Given the description of an element on the screen output the (x, y) to click on. 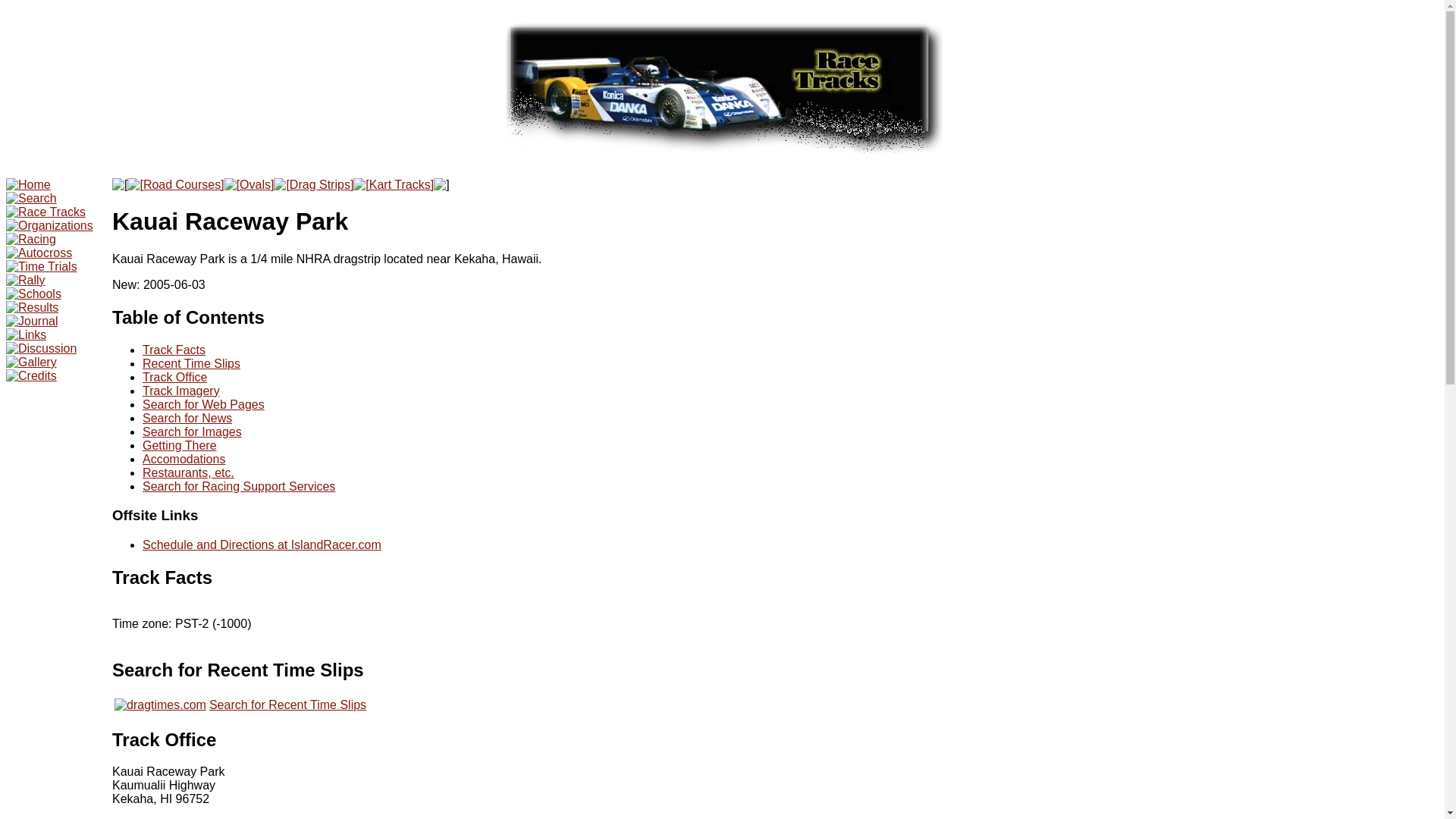
Track Facts (173, 349)
Search for Images (191, 431)
Restaurants, etc. (188, 472)
Track Facts (162, 577)
Schedule and Directions at IslandRacer.com (261, 544)
Track Office (174, 377)
Getting There (179, 445)
Search for Racing Support Services (238, 486)
Search for News (186, 418)
Track Office (163, 739)
Search for Web Pages (203, 404)
Accomodations (183, 459)
Search for Recent Time Slips (287, 704)
Search for Recent Time Slips (238, 670)
Track Imagery (180, 390)
